Given the description of an element on the screen output the (x, y) to click on. 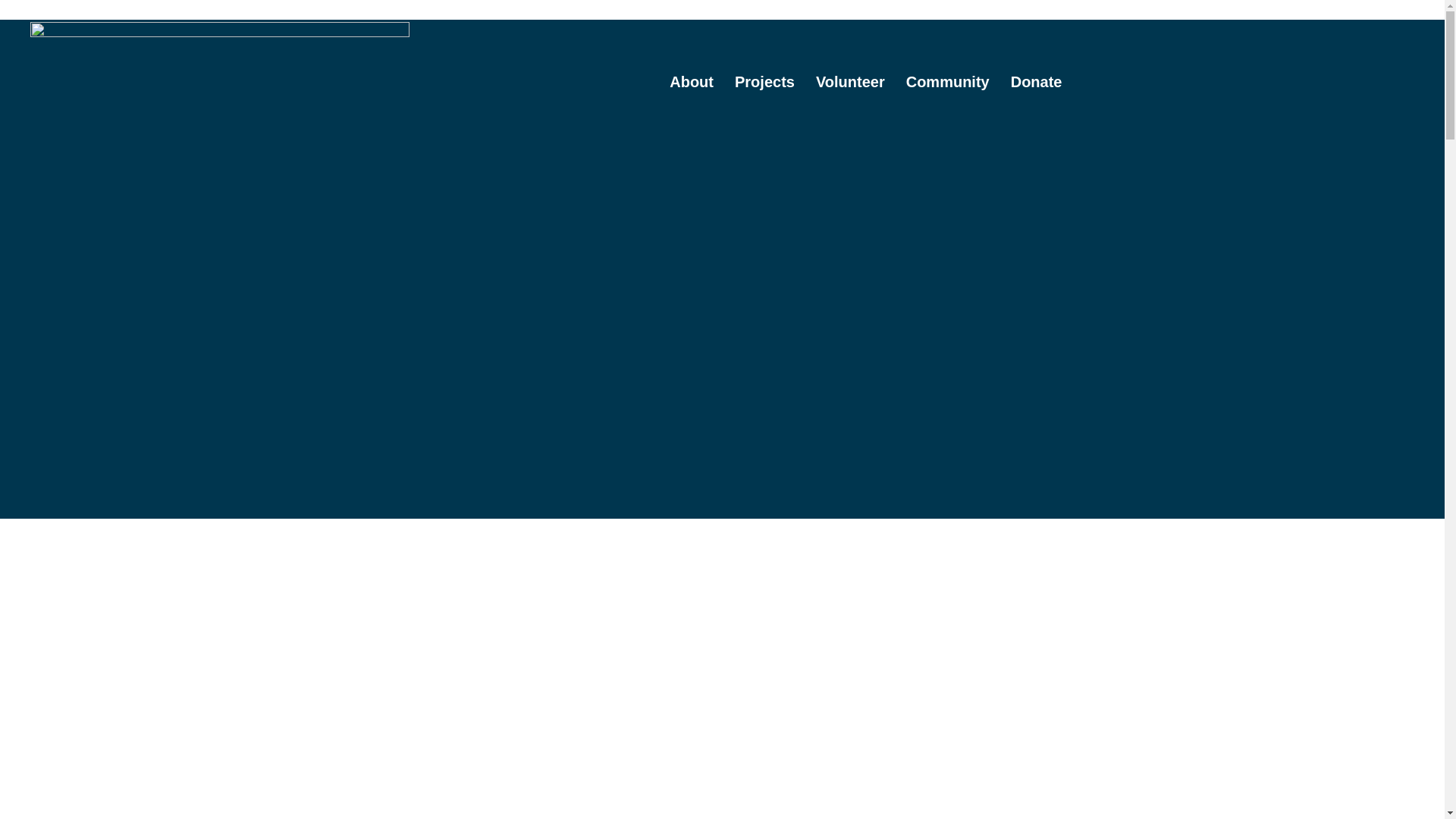
Donate (1036, 81)
About (691, 81)
Projects (765, 81)
Volunteer (850, 81)
Community (947, 81)
